Given the description of an element on the screen output the (x, y) to click on. 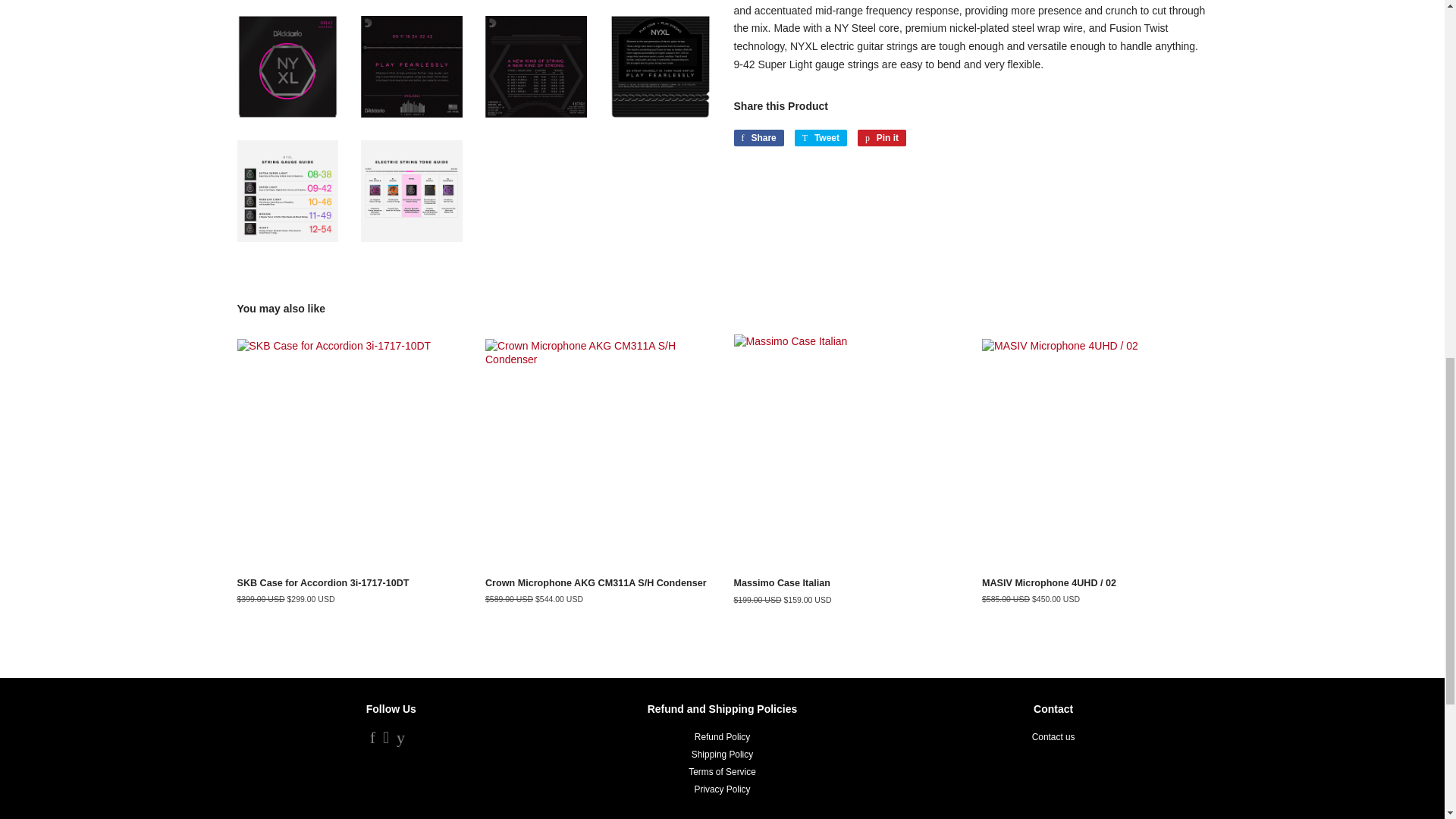
Share on Facebook (758, 137)
Pin on Pinterest (881, 137)
Tweet on Twitter (820, 137)
